Given the description of an element on the screen output the (x, y) to click on. 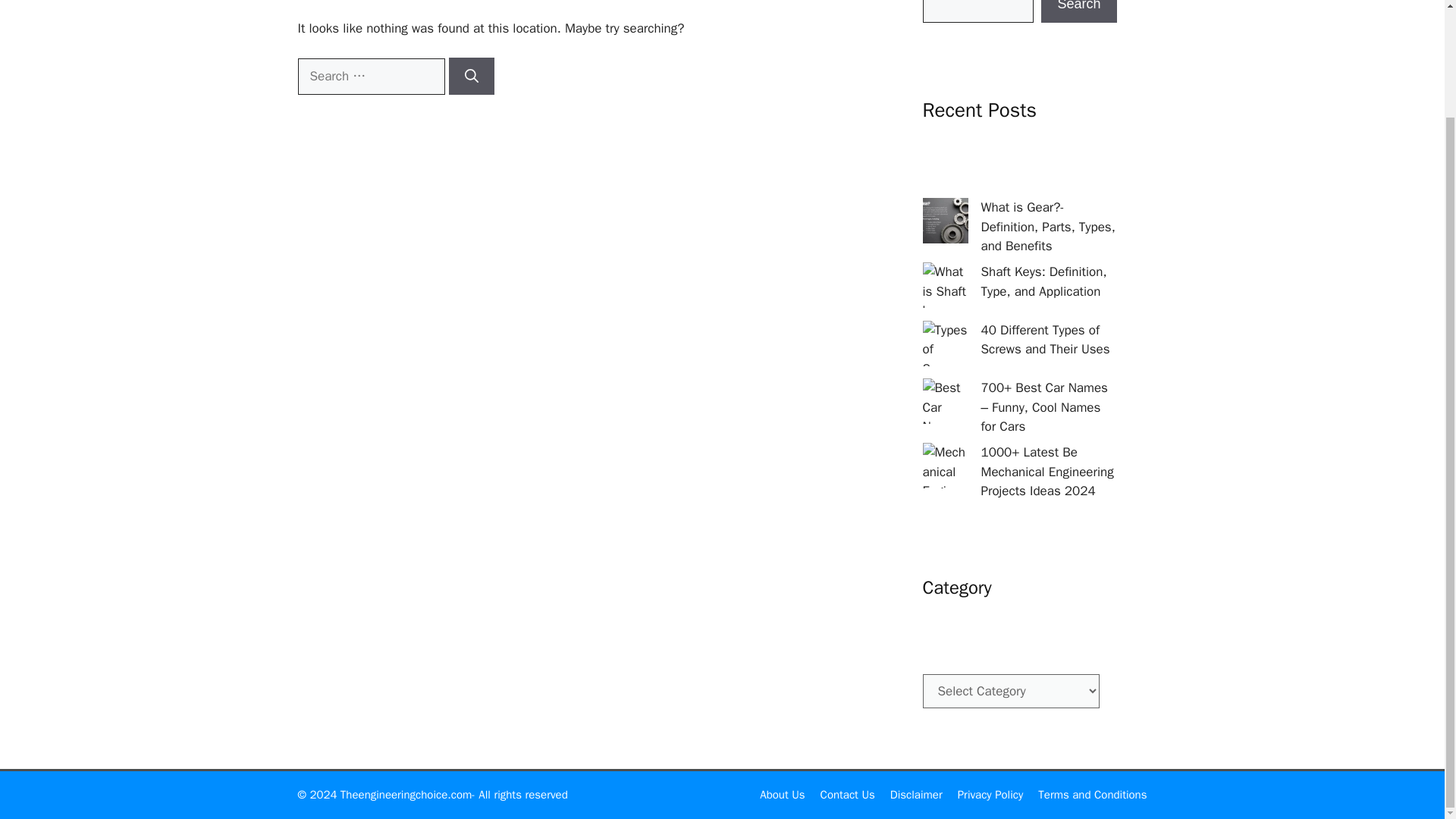
Terms and Conditions (1092, 794)
40 Different Types of Screws and Their Uses (1045, 339)
Disclaimer (915, 794)
Privacy Policy (990, 794)
About Us (782, 794)
Search for: (370, 76)
Shaft Keys: Definition, Type, and Application (1043, 281)
Contact Us (848, 794)
Search (1078, 11)
What is Gear?- Definition, Parts, Types, and Benefits (1048, 226)
